Given the description of an element on the screen output the (x, y) to click on. 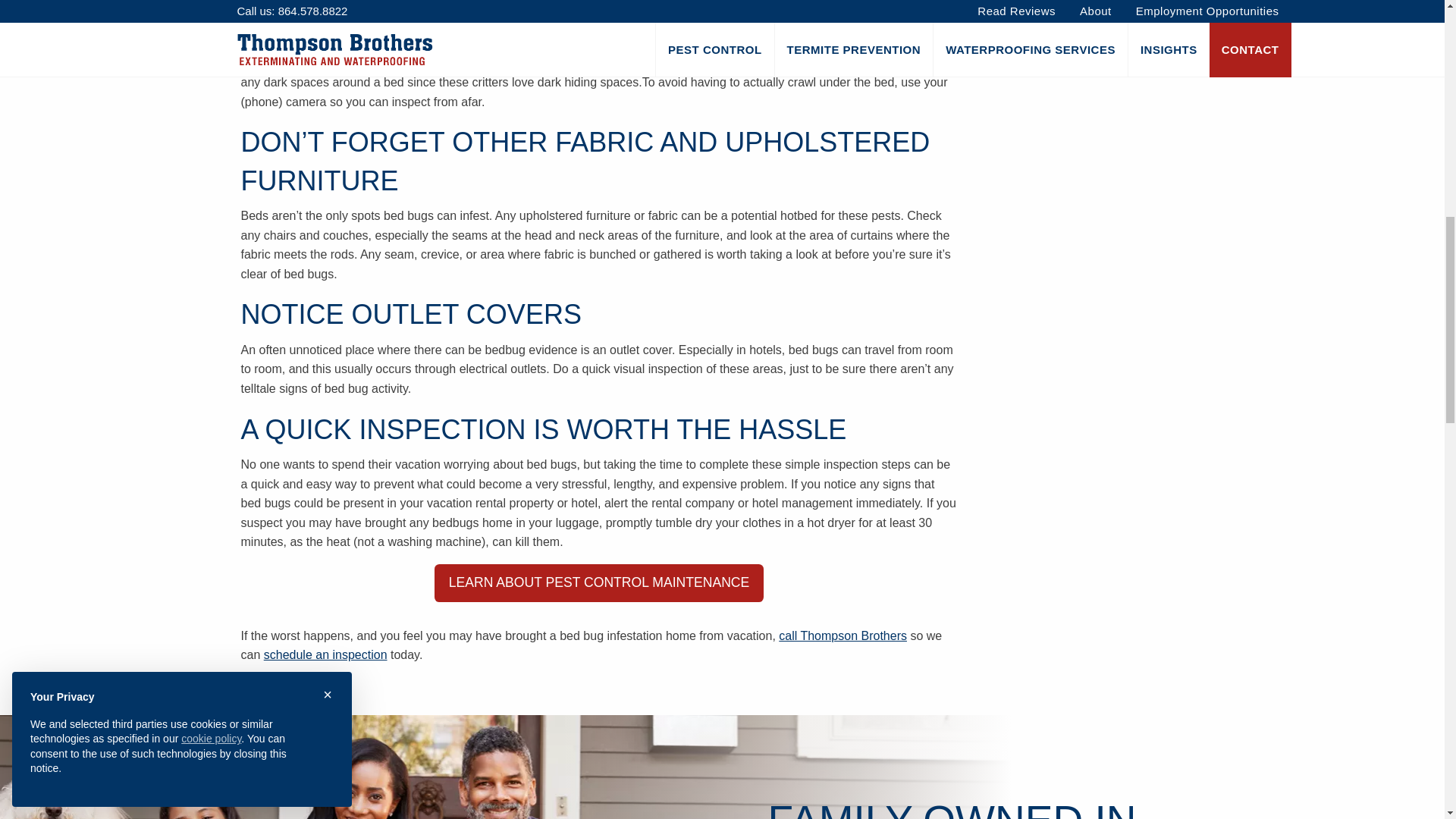
LEARN ABOUT PEST CONTROL MAINTENANCE (597, 582)
call Thompson Brothers (842, 635)
schedule an inspection (325, 654)
